Given the description of an element on the screen output the (x, y) to click on. 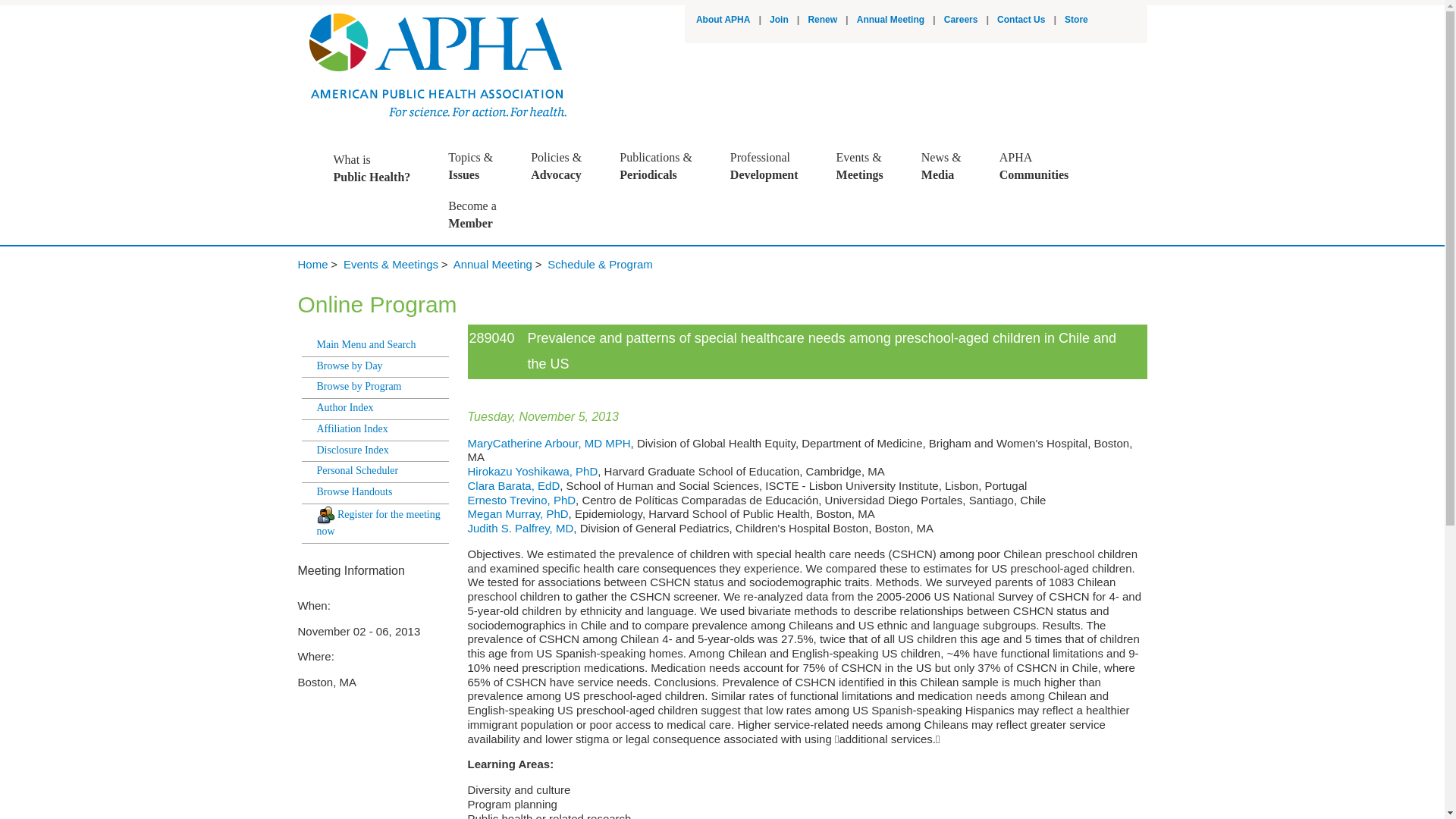
Contact Us (1021, 19)
Store (378, 169)
Renew (1075, 19)
Join (822, 19)
About APHA (779, 19)
Annual Meeting (723, 19)
Careers (890, 19)
